Given the description of an element on the screen output the (x, y) to click on. 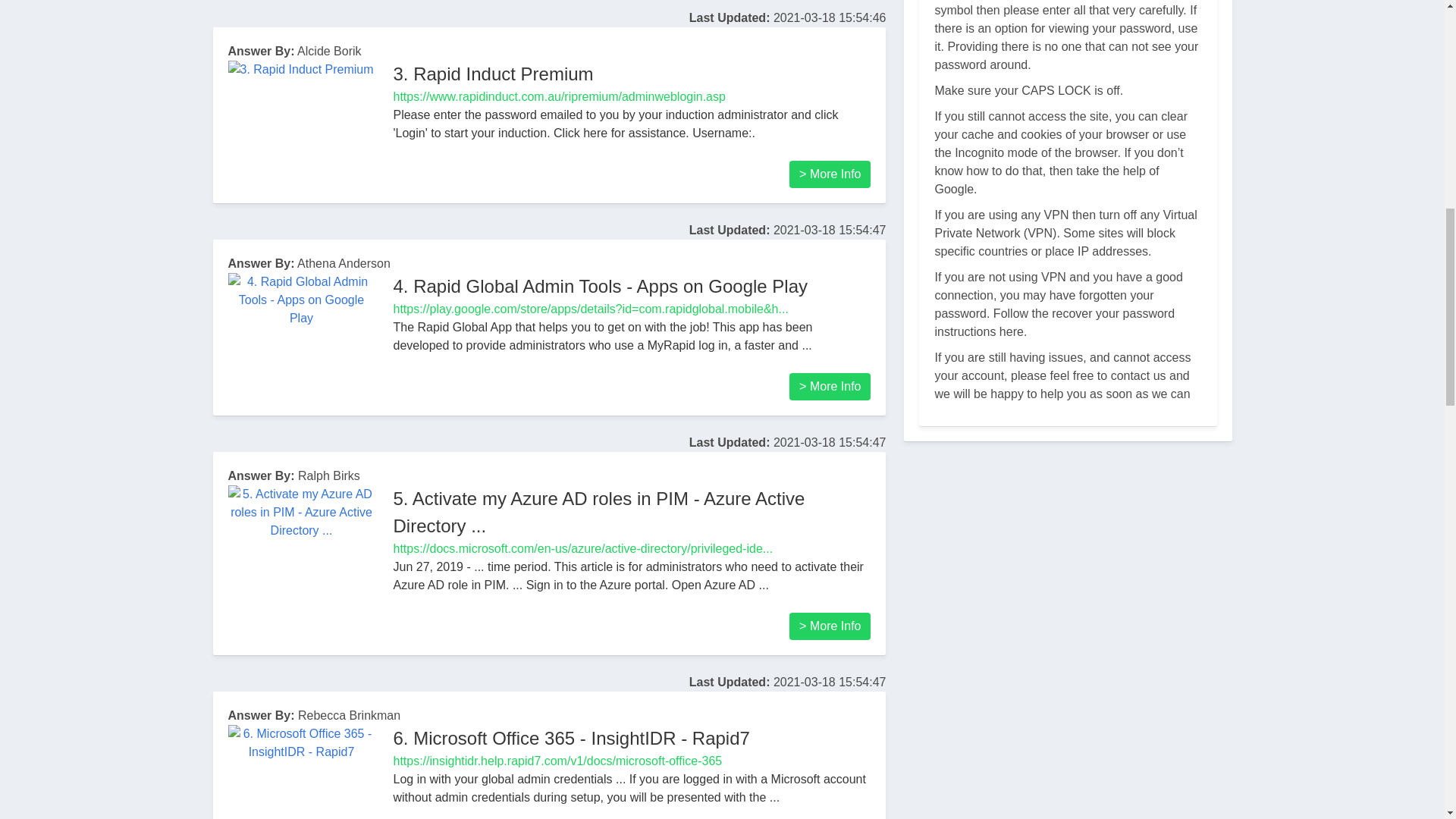
4. Rapid Global Admin Tools - Apps on Google Play (600, 286)
3. Rapid Induct Premium (492, 73)
6. Microsoft Office 365 - InsightIDR - Rapid7 (571, 738)
